Given the description of an element on the screen output the (x, y) to click on. 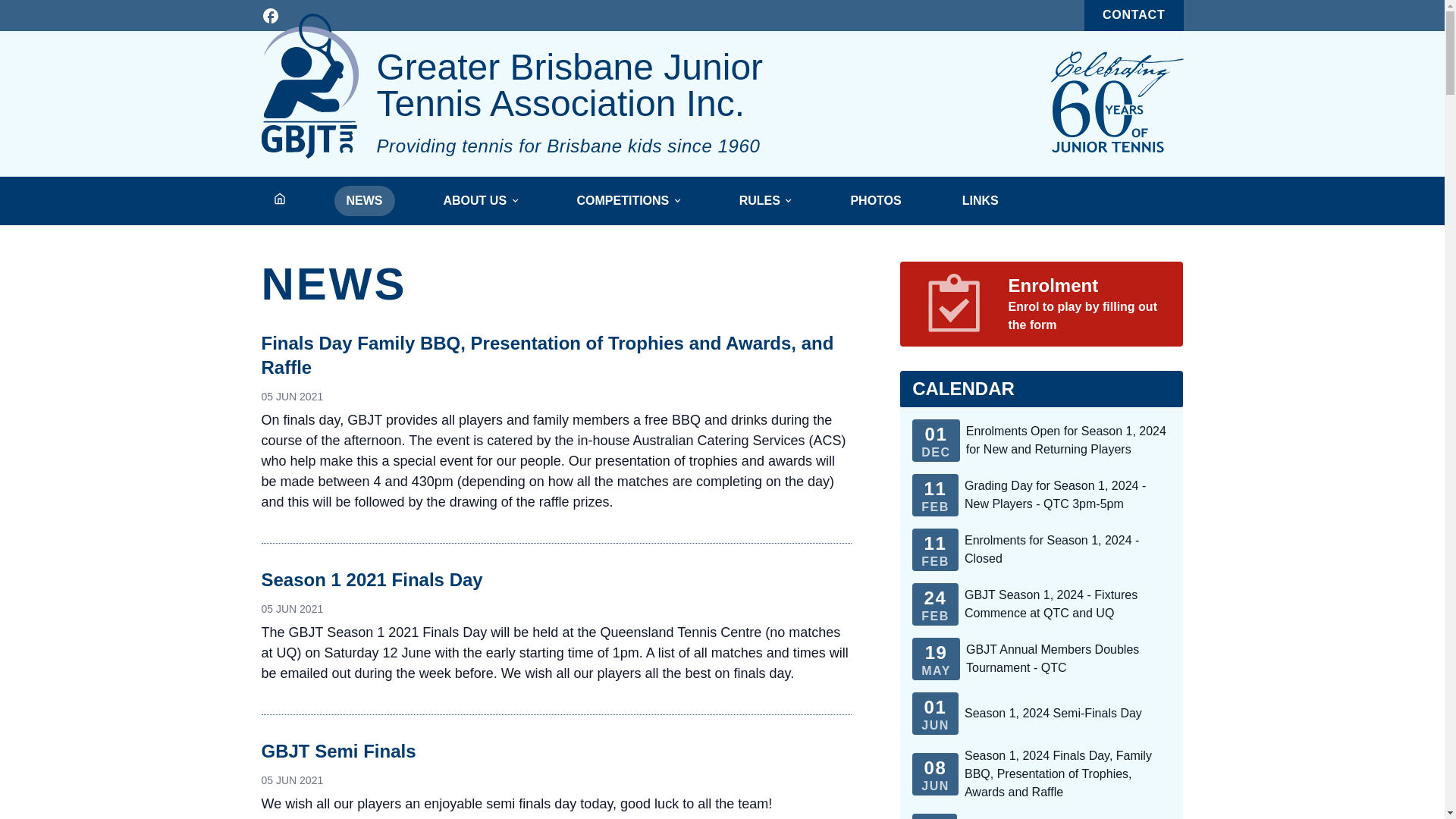
ABOUT US Element type: text (478, 200)
Enrolment
Enrol to play by filling out the form Element type: text (1041, 303)
NEWS Element type: text (363, 200)
RULES Element type: text (764, 200)
PHOTOS Element type: text (875, 200)
LINKS Element type: text (980, 200)
CONTACT Element type: text (1133, 15)
COMPETITIONS Element type: text (627, 200)
